Given the description of an element on the screen output the (x, y) to click on. 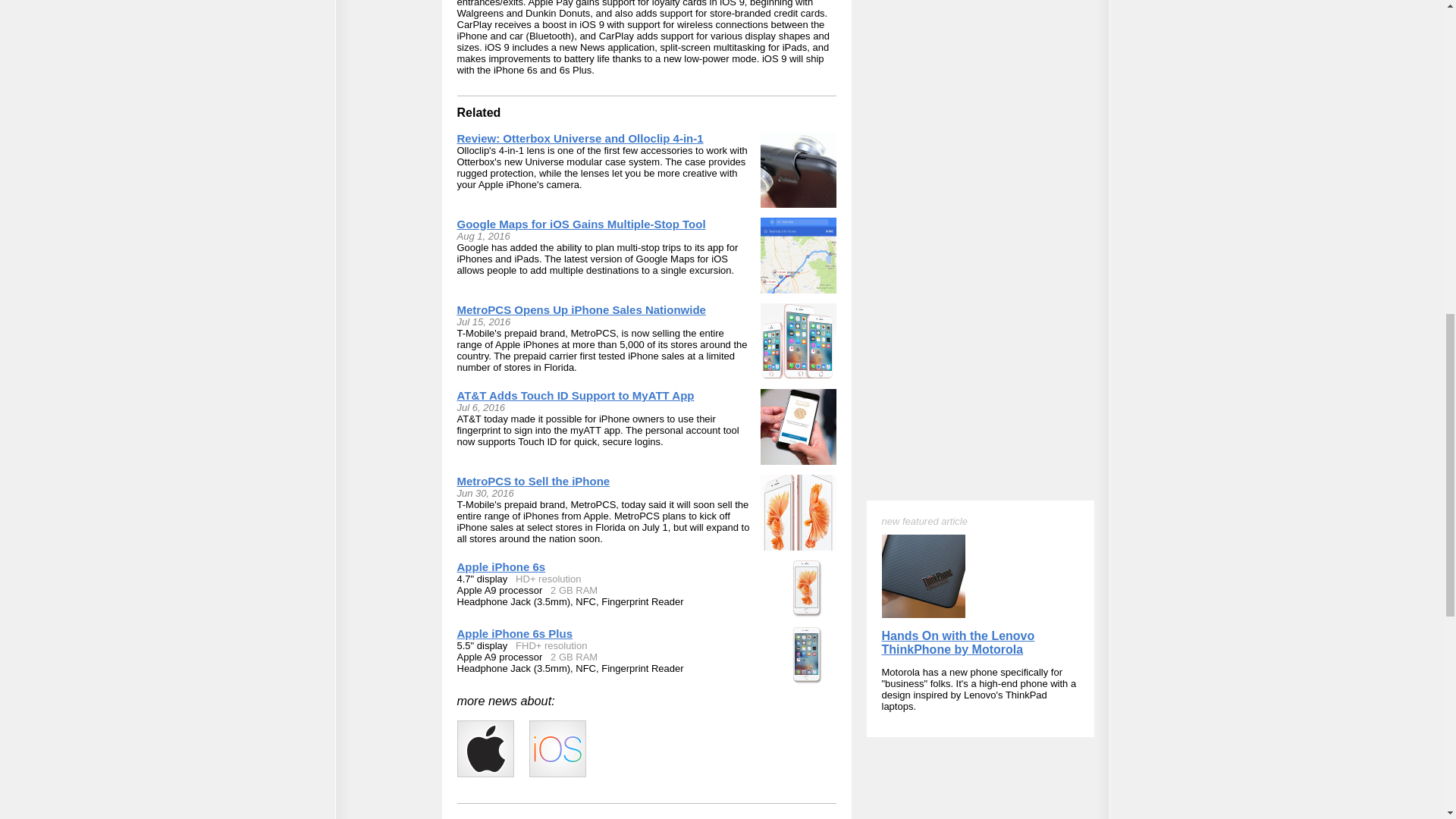
Apple (485, 748)
Related (478, 112)
Hands On with the Lenovo ThinkPhone by Motorola (956, 90)
iOS (557, 748)
